Given the description of an element on the screen output the (x, y) to click on. 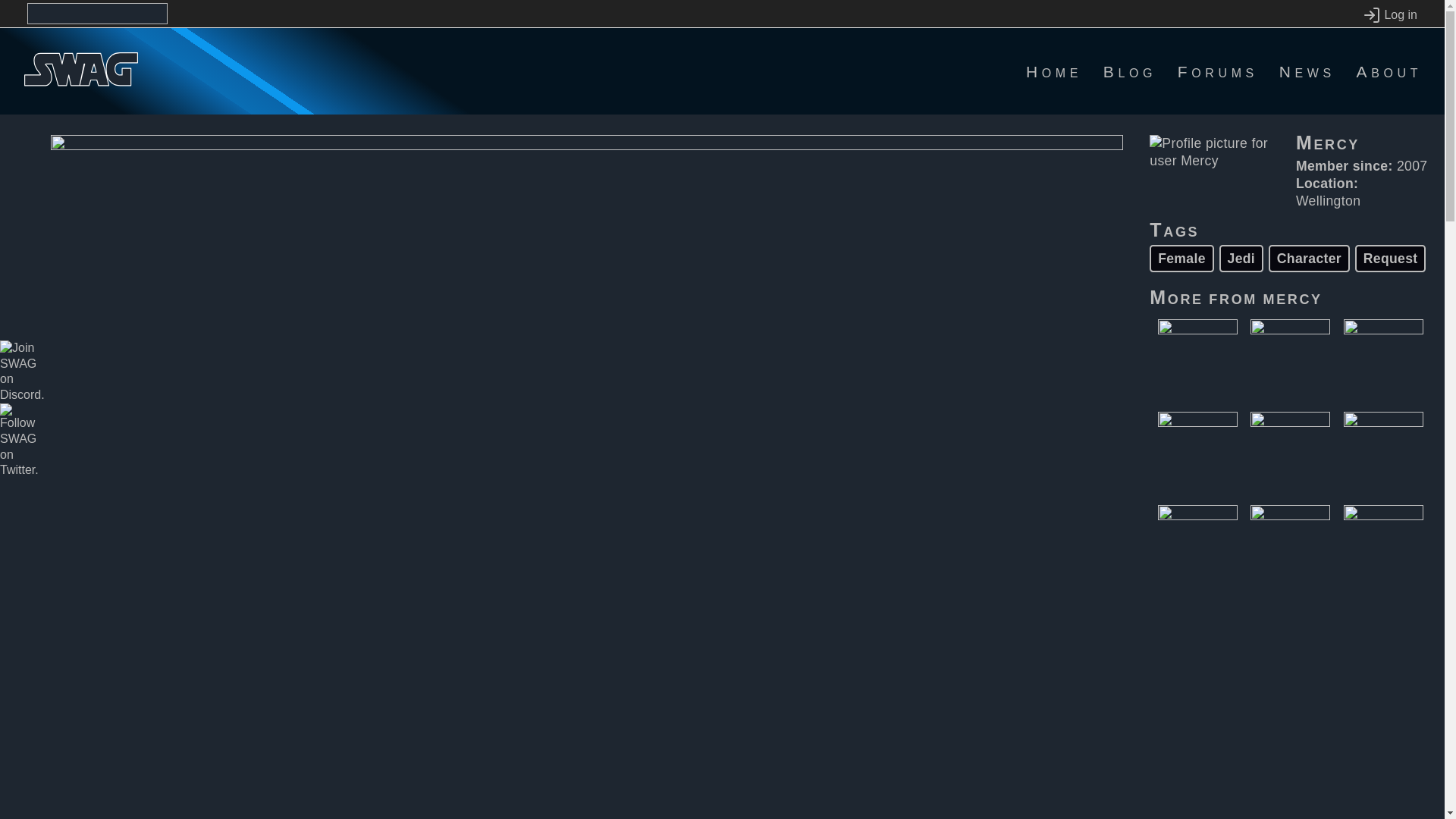
Log in (1389, 14)
Enter the terms you wish to search for. (97, 13)
Forums (1217, 71)
About (1389, 71)
Home (1053, 71)
News (1307, 71)
Blog (1129, 71)
View user profile. (1292, 296)
